Given the description of an element on the screen output the (x, y) to click on. 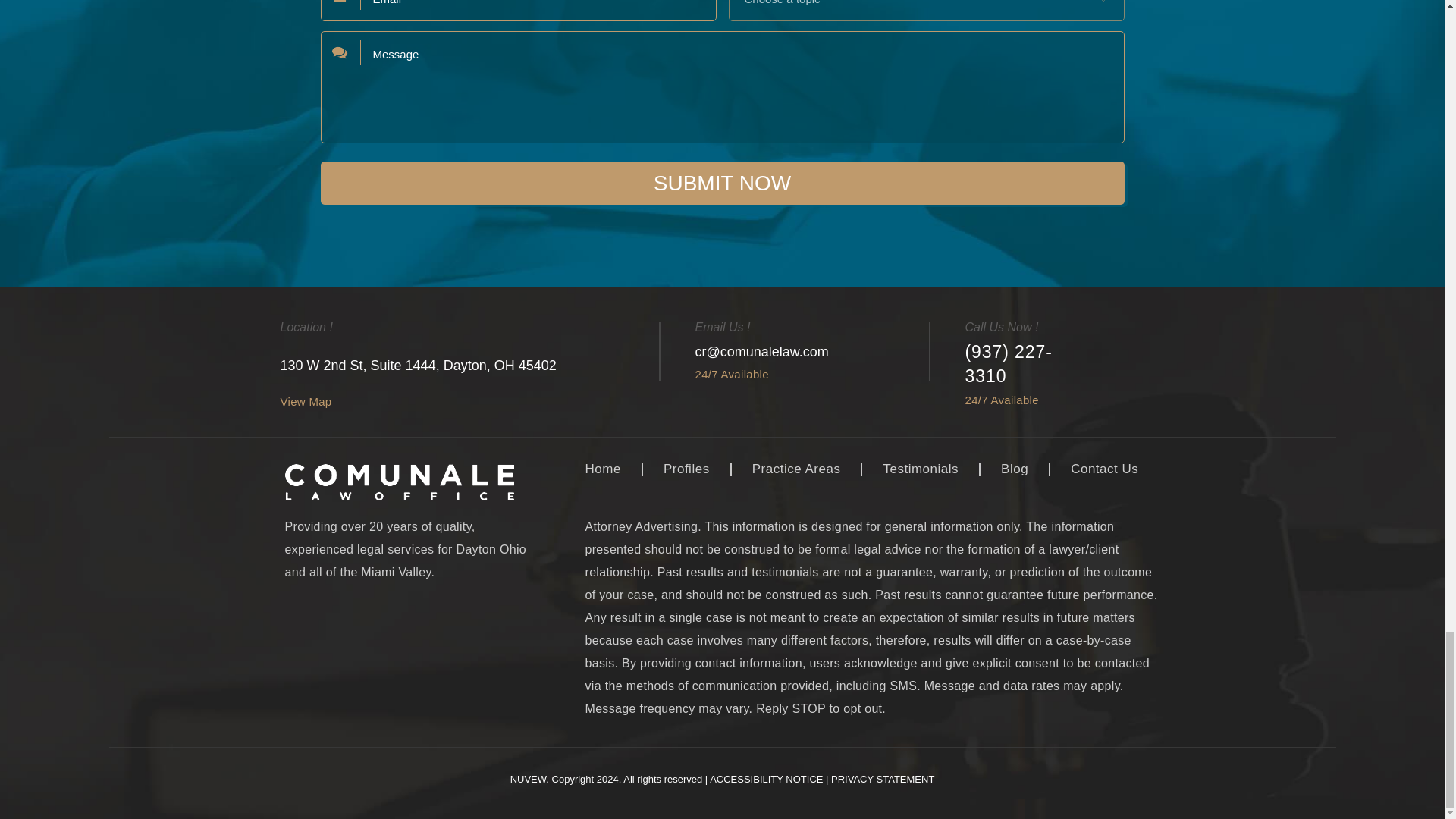
Submit Now (722, 182)
